Given the description of an element on the screen output the (x, y) to click on. 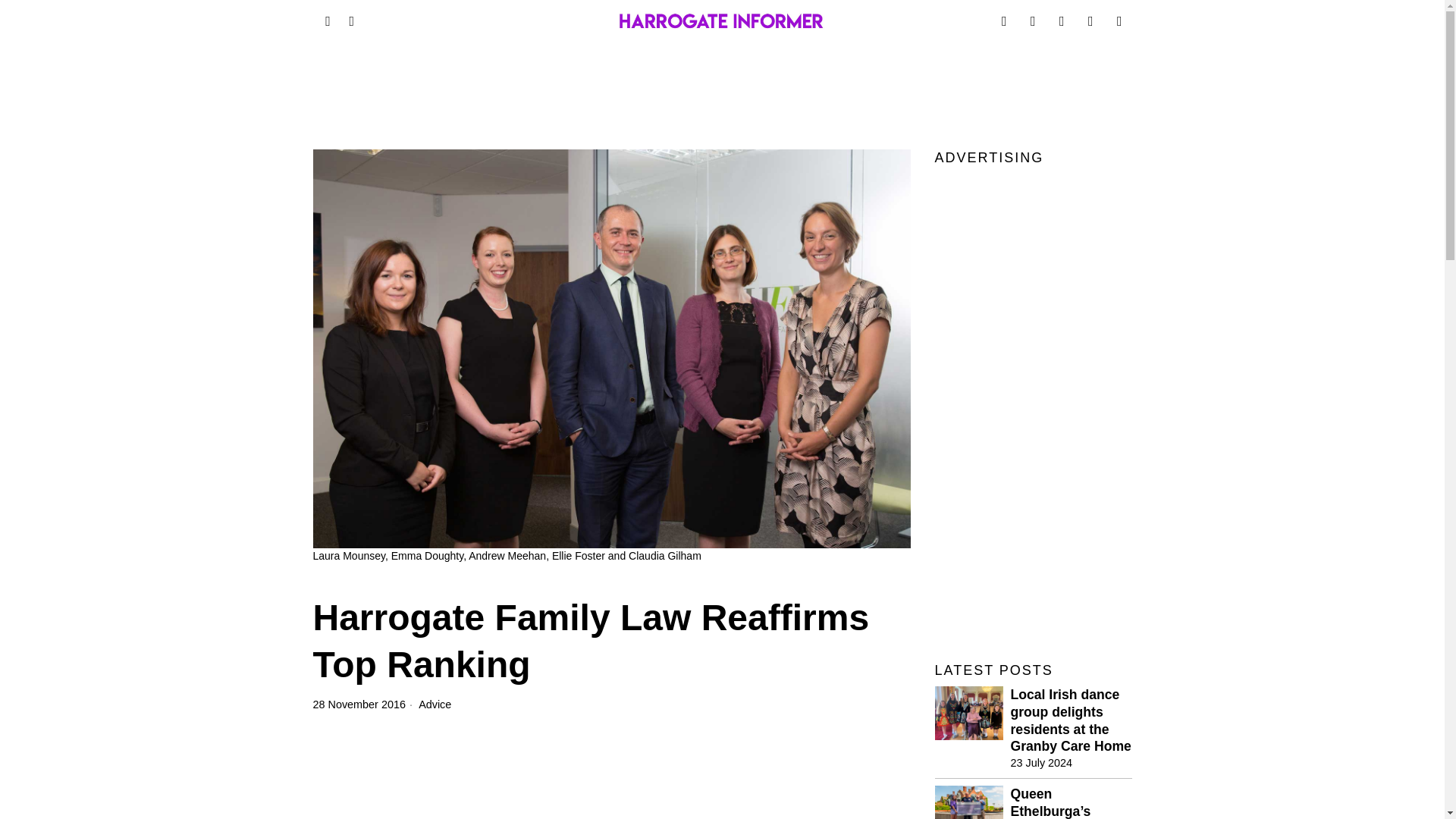
Advice (435, 704)
23 Jul, 2024 14:57:11 (1040, 762)
28 Nov, 2016 07:29:24 (358, 703)
